Given the description of an element on the screen output the (x, y) to click on. 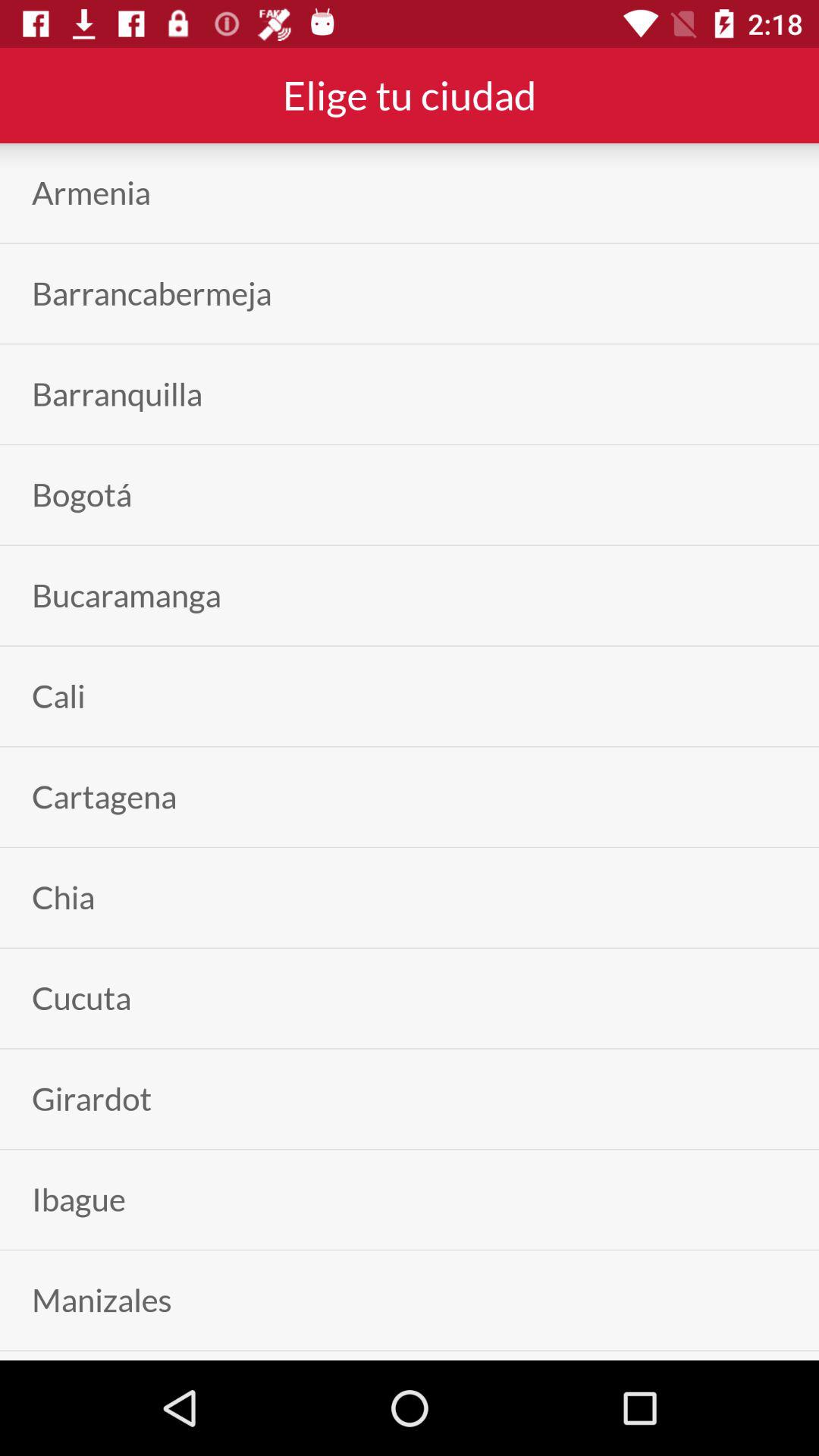
open the icon above cucuta icon (62, 897)
